Given the description of an element on the screen output the (x, y) to click on. 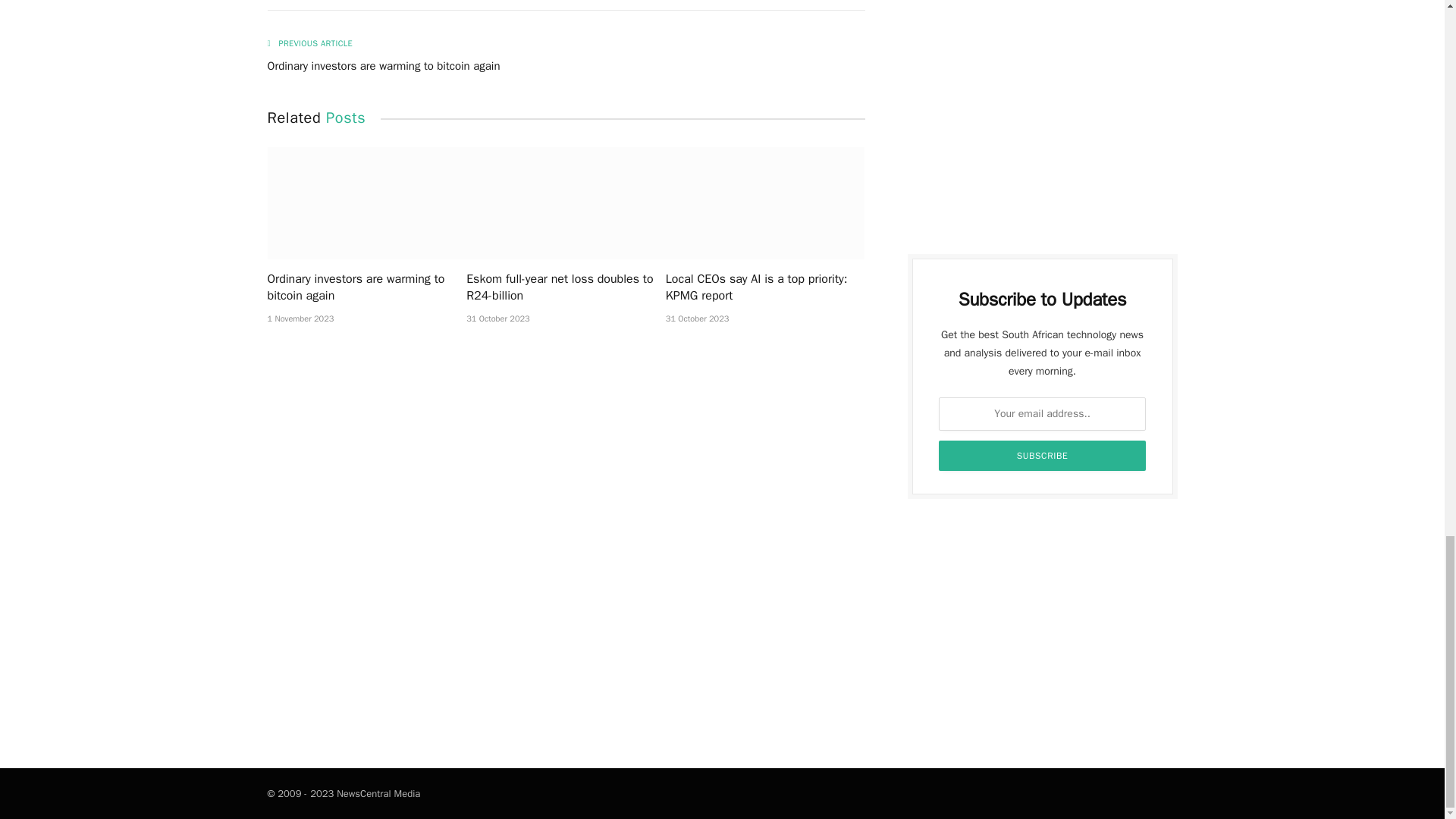
Subscribe (1043, 455)
